Given the description of an element on the screen output the (x, y) to click on. 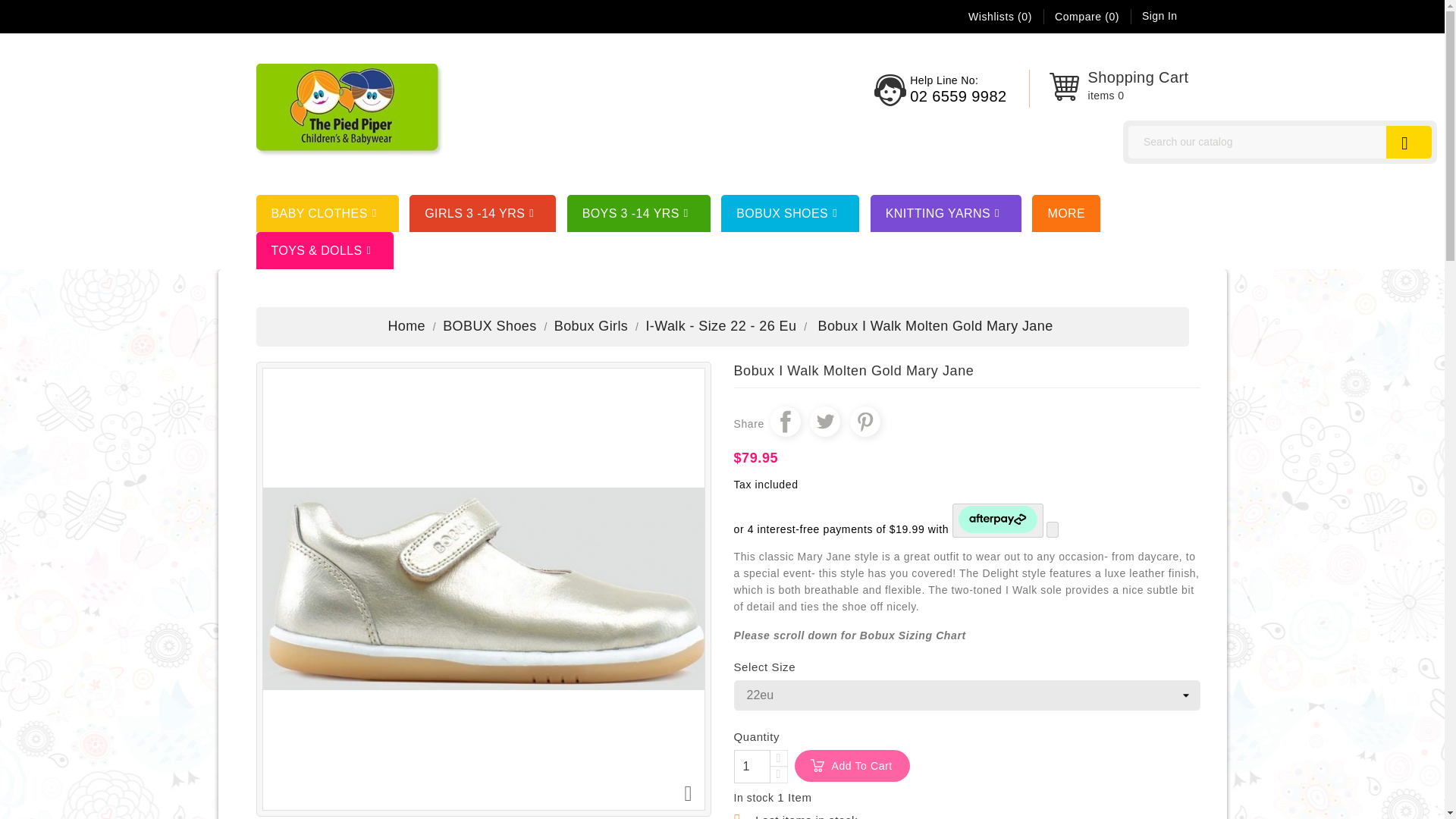
Pinterest (865, 421)
Sign In (1158, 15)
Log in to your customer account (1158, 15)
Share (785, 421)
1 (751, 766)
Tweet (824, 421)
